Given the description of an element on the screen output the (x, y) to click on. 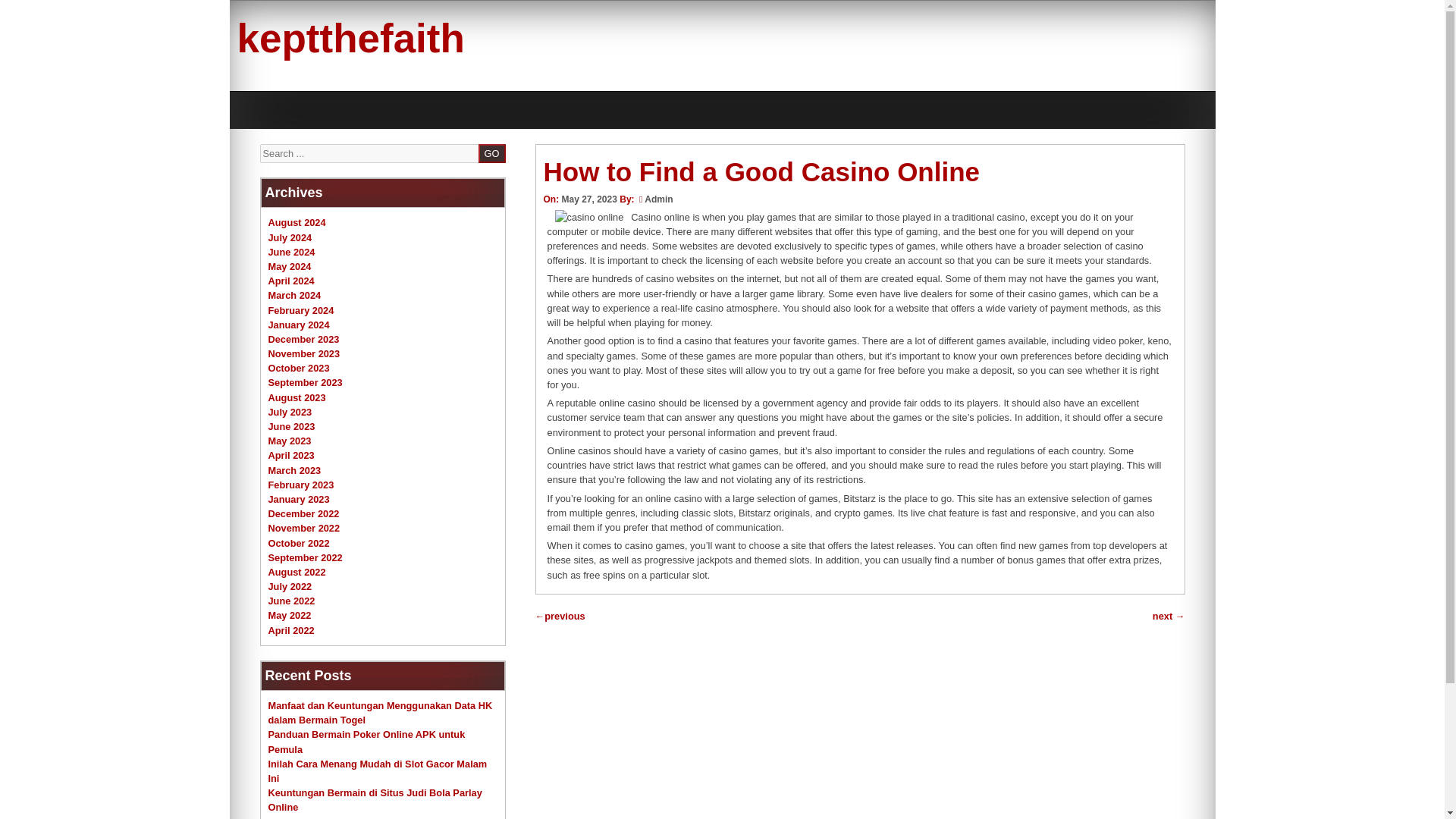
Admin (658, 199)
June 2023 (291, 426)
August 2022 (296, 572)
October 2022 (298, 542)
September 2023 (304, 382)
April 2024 (290, 280)
June 2022 (291, 600)
GO (492, 153)
November 2022 (303, 527)
February 2024 (300, 310)
